Given the description of an element on the screen output the (x, y) to click on. 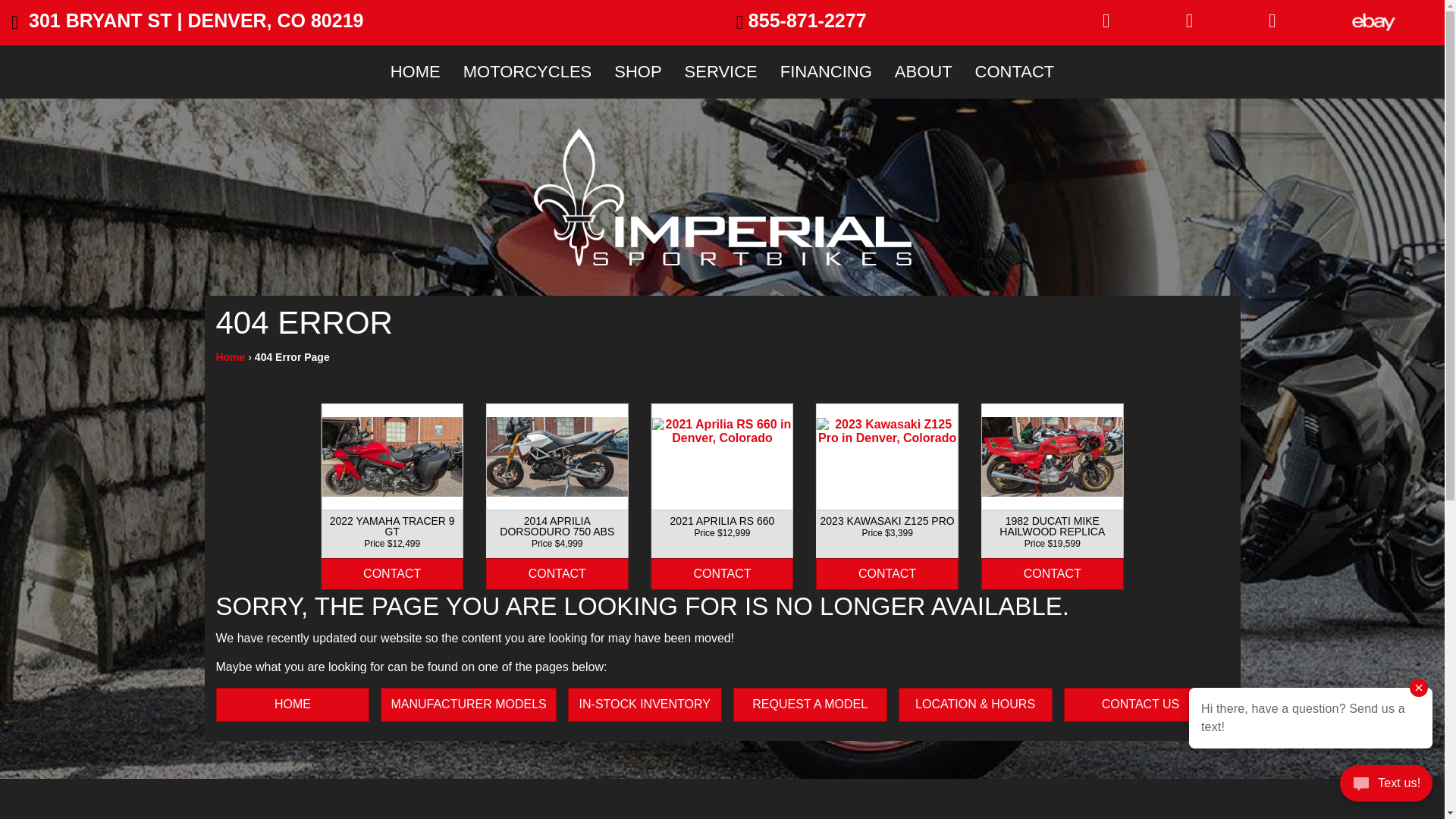
SERVICE (720, 71)
Imperial Sportbikes (721, 195)
HOME (414, 71)
ABOUT (923, 71)
 855-871-2277 (801, 21)
SHOP (637, 71)
MOTORCYCLES (527, 71)
FINANCING (825, 71)
